Given the description of an element on the screen output the (x, y) to click on. 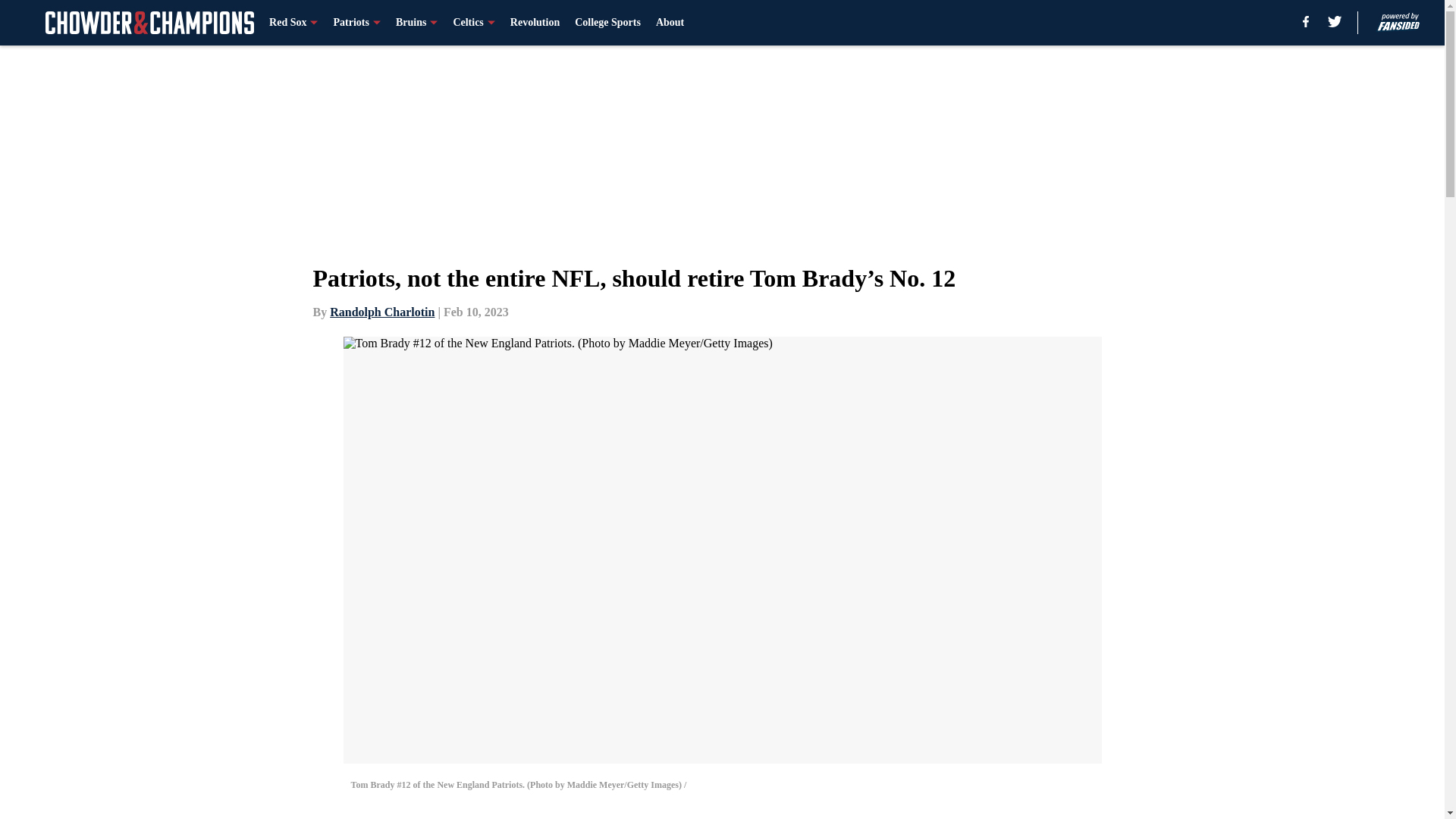
College Sports (607, 22)
Randolph Charlotin (381, 311)
About (670, 22)
Revolution (535, 22)
